Given the description of an element on the screen output the (x, y) to click on. 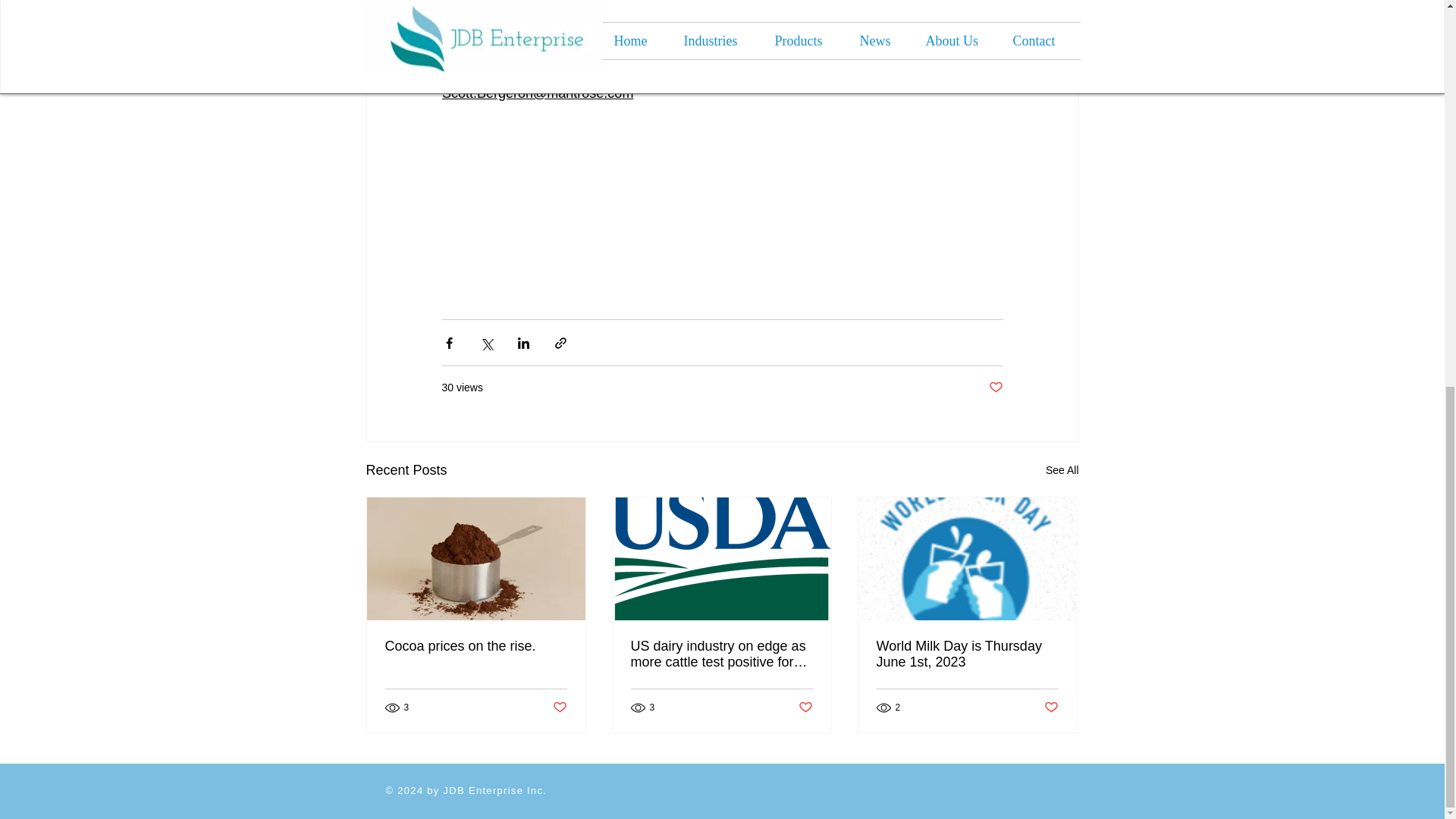
Post not marked as liked (995, 387)
See All (1061, 470)
World Milk Day is Thursday June 1st, 2023 (967, 654)
Post not marked as liked (1050, 707)
Post not marked as liked (804, 707)
Cocoa prices on the rise. (476, 646)
Post not marked as liked (558, 707)
